Given the description of an element on the screen output the (x, y) to click on. 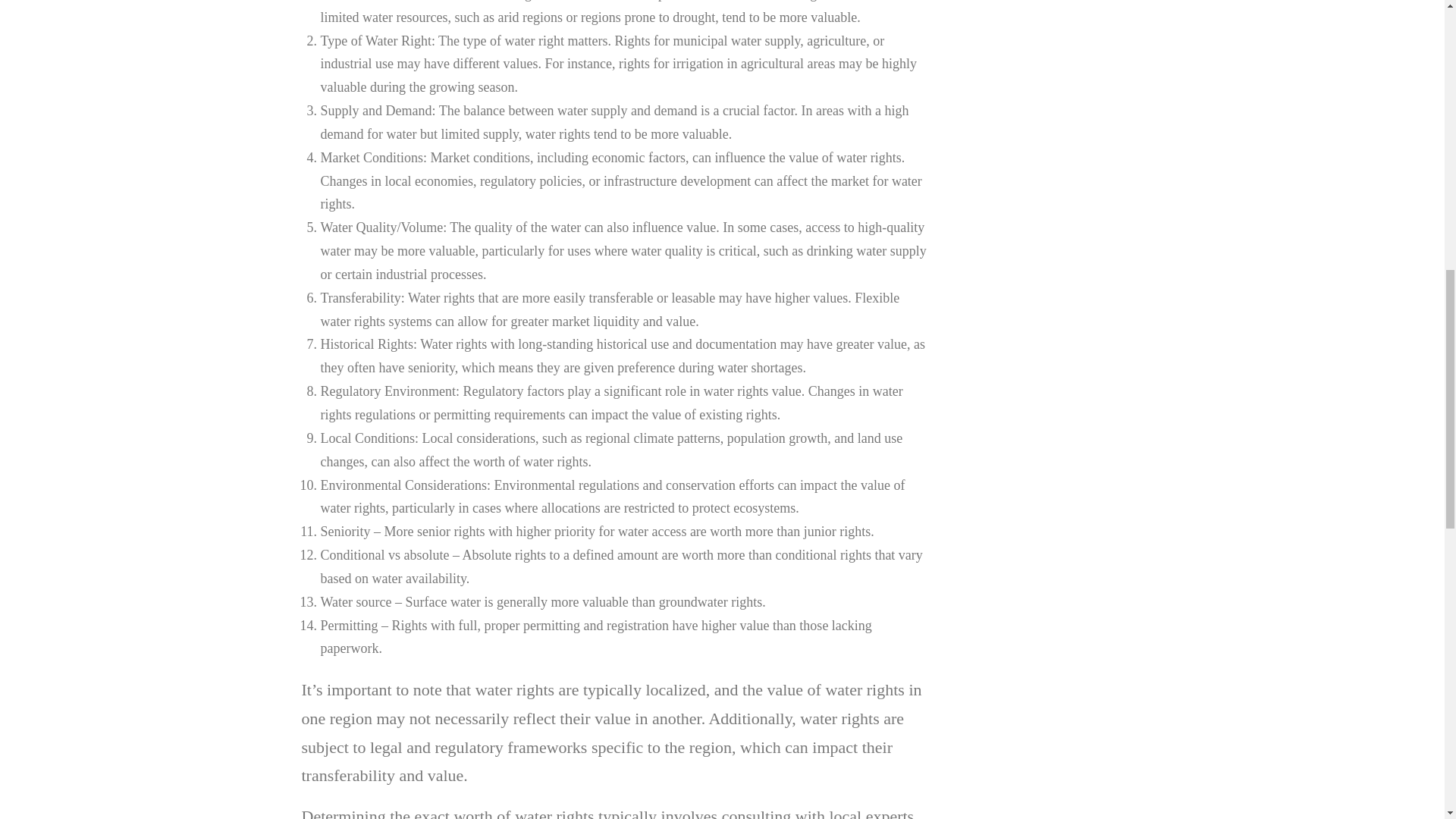
water rights (868, 157)
